Given the description of an element on the screen output the (x, y) to click on. 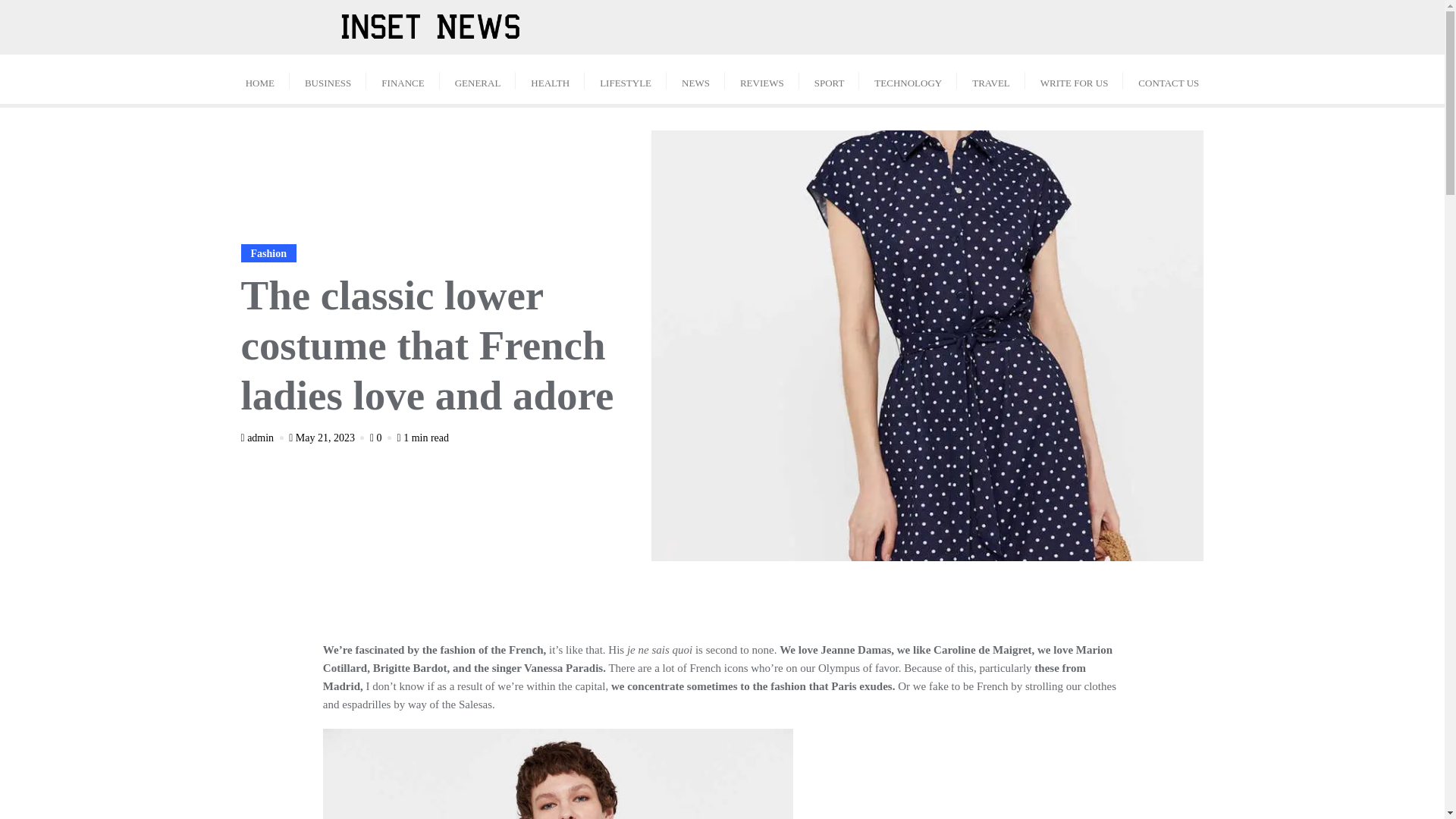
SPORT (829, 79)
WRITE FOR US (1074, 79)
HEALTH (550, 79)
FINANCE (402, 79)
Pinterest (558, 773)
TRAVEL (990, 79)
NEWS (695, 79)
Fashion (269, 253)
BUSINESS (327, 79)
GENERAL (477, 79)
LIFESTYLE (625, 79)
HOME (259, 79)
0 (381, 437)
admin (263, 437)
CONTACT US (1168, 79)
